Given the description of an element on the screen output the (x, y) to click on. 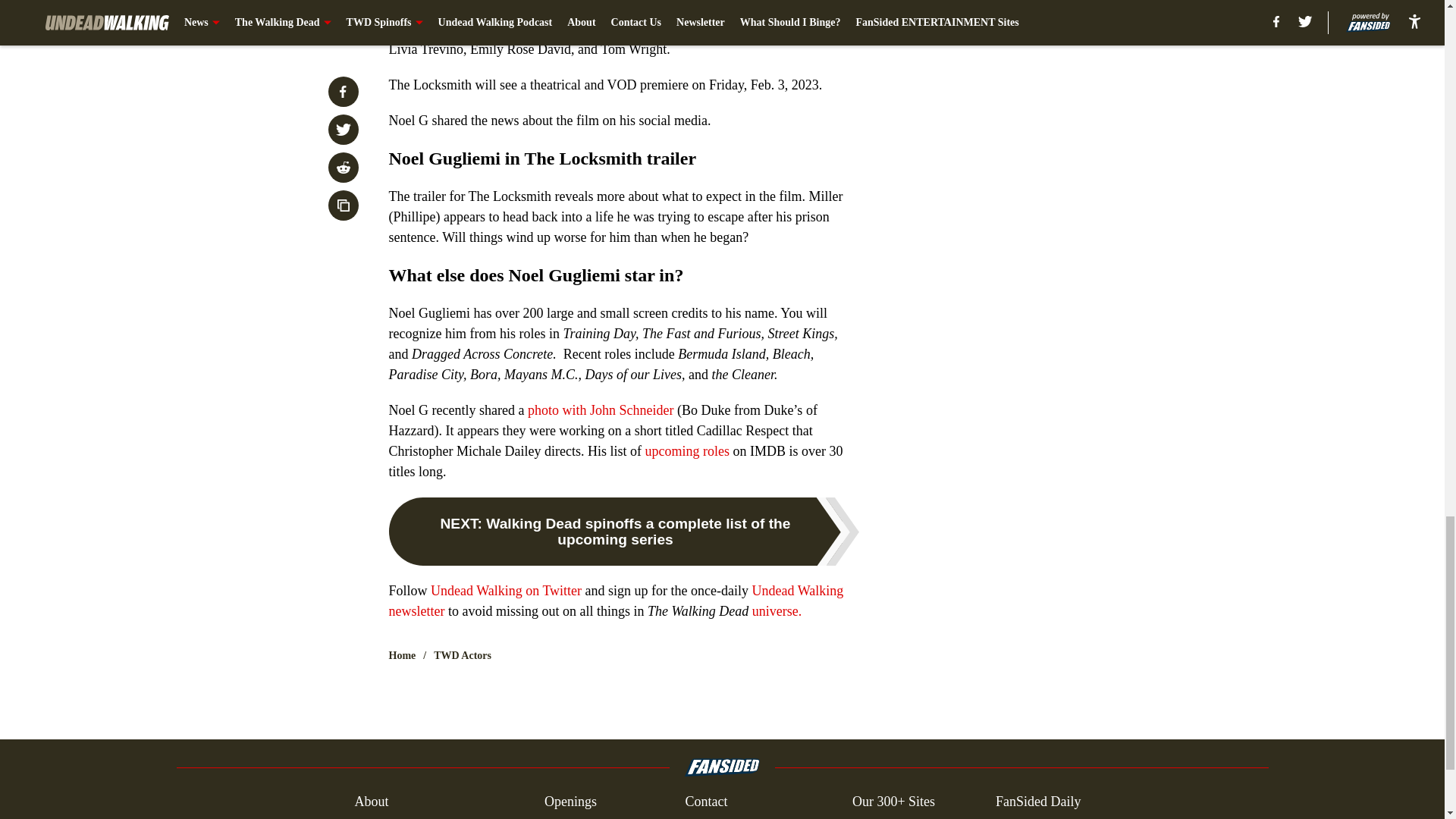
TWD Actors (462, 655)
Undead Walking on Twitter (505, 590)
Home (401, 655)
photo with John Schneider (599, 409)
Undead Walking newsletter (615, 601)
universe. (777, 611)
upcoming roles (687, 450)
